Given the description of an element on the screen output the (x, y) to click on. 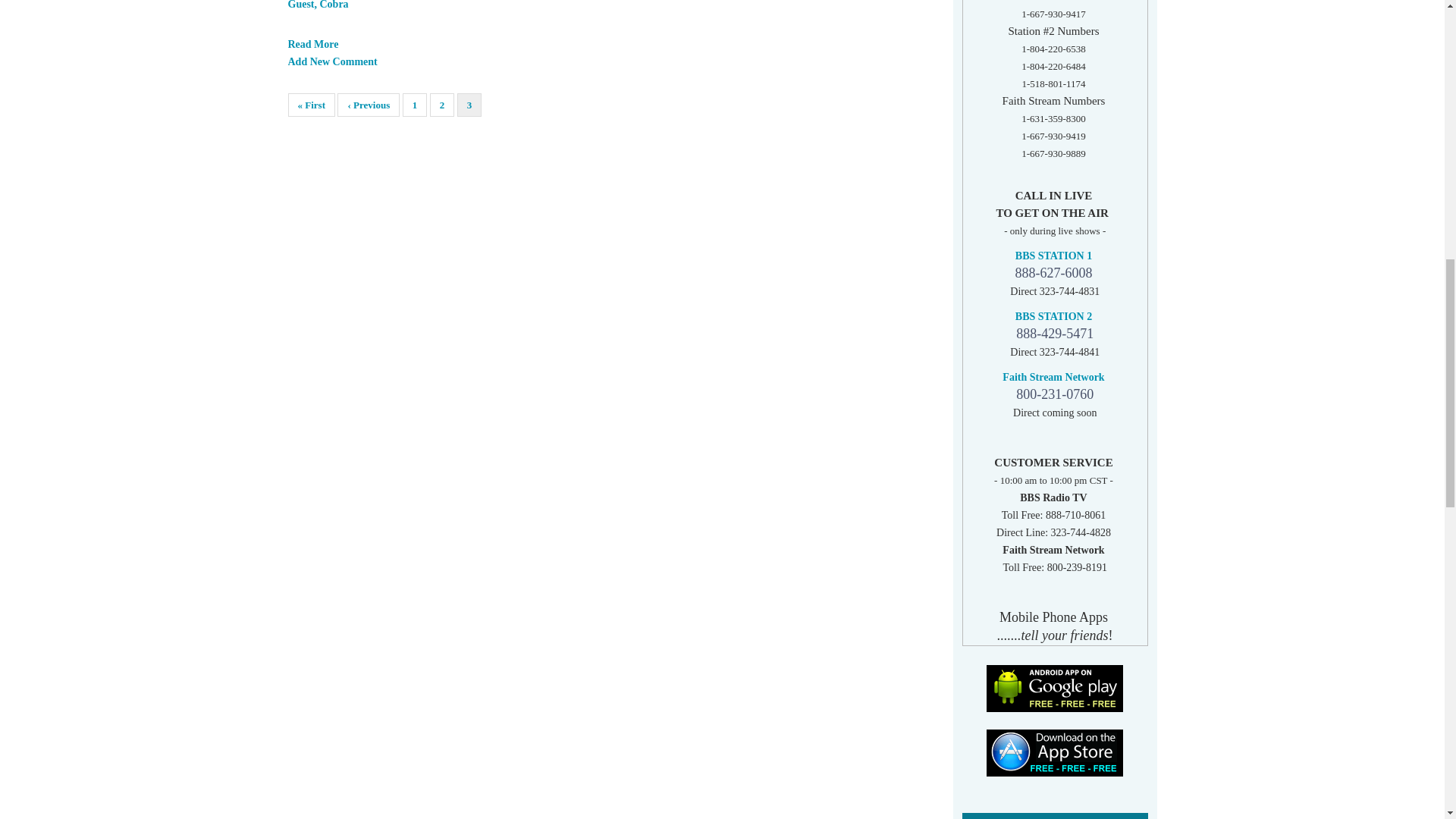
Go to page 1 (415, 105)
Current page (469, 105)
Go to first page (311, 105)
Go to previous page (367, 105)
Go to page 2 (441, 105)
